Given the description of an element on the screen output the (x, y) to click on. 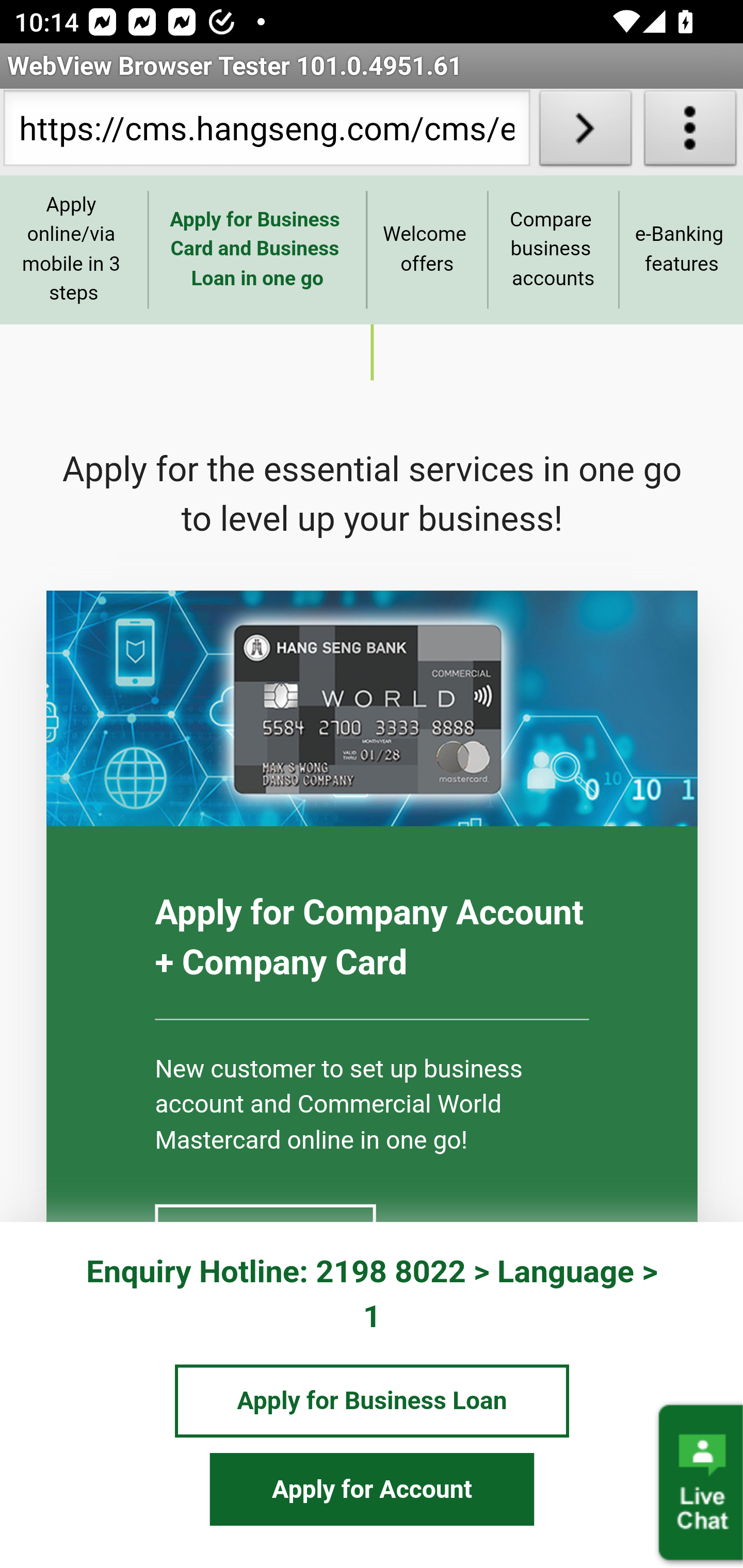
Load URL (585, 132)
About WebView (690, 132)
